Given the description of an element on the screen output the (x, y) to click on. 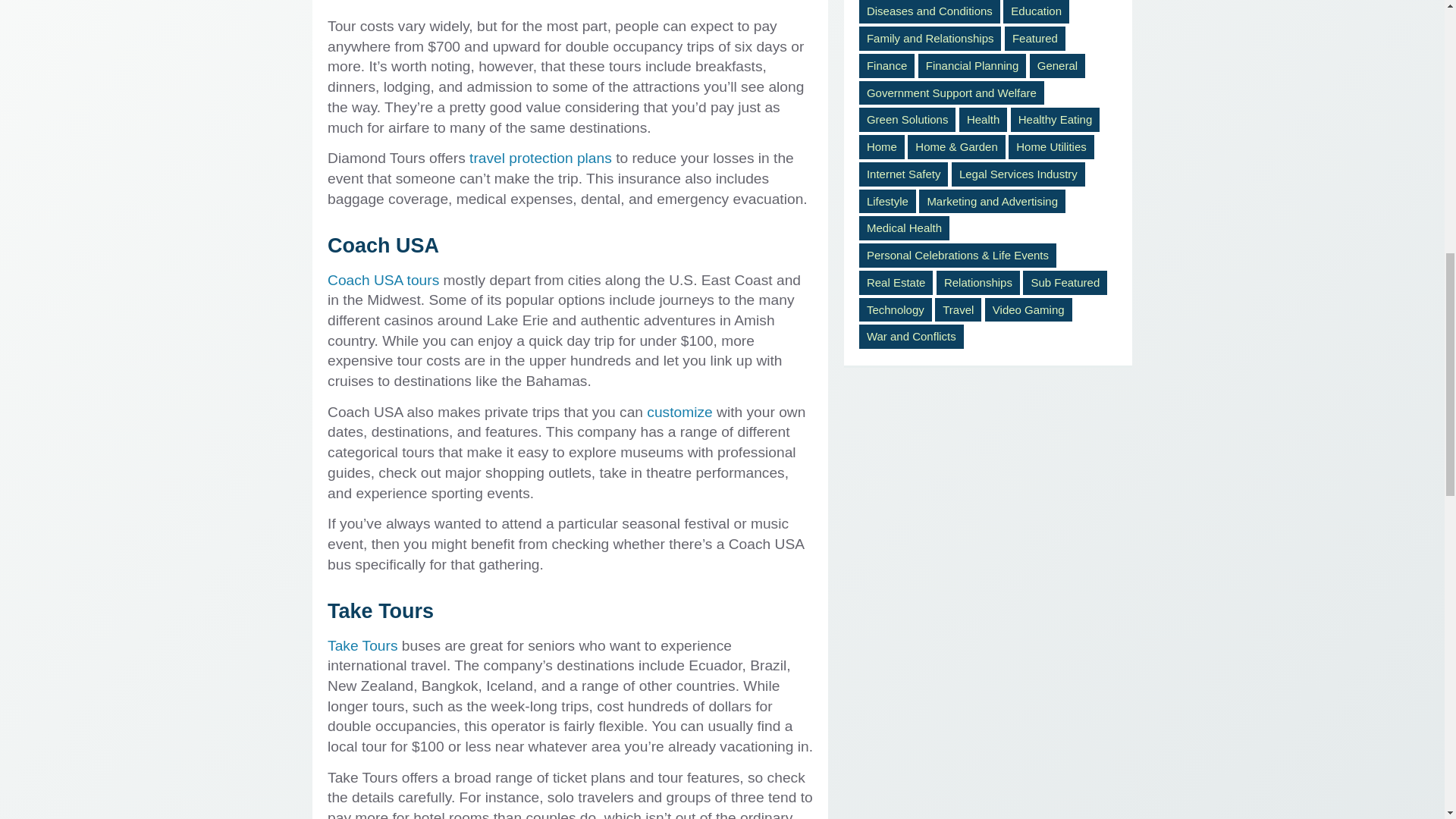
Diseases and Conditions (929, 11)
travel protection plans (539, 157)
Featured (1034, 38)
Finance (886, 65)
Family and Relationships (930, 38)
Take Tours (362, 645)
Education (1035, 11)
Coach USA tours (383, 279)
customize (678, 412)
